Given the description of an element on the screen output the (x, y) to click on. 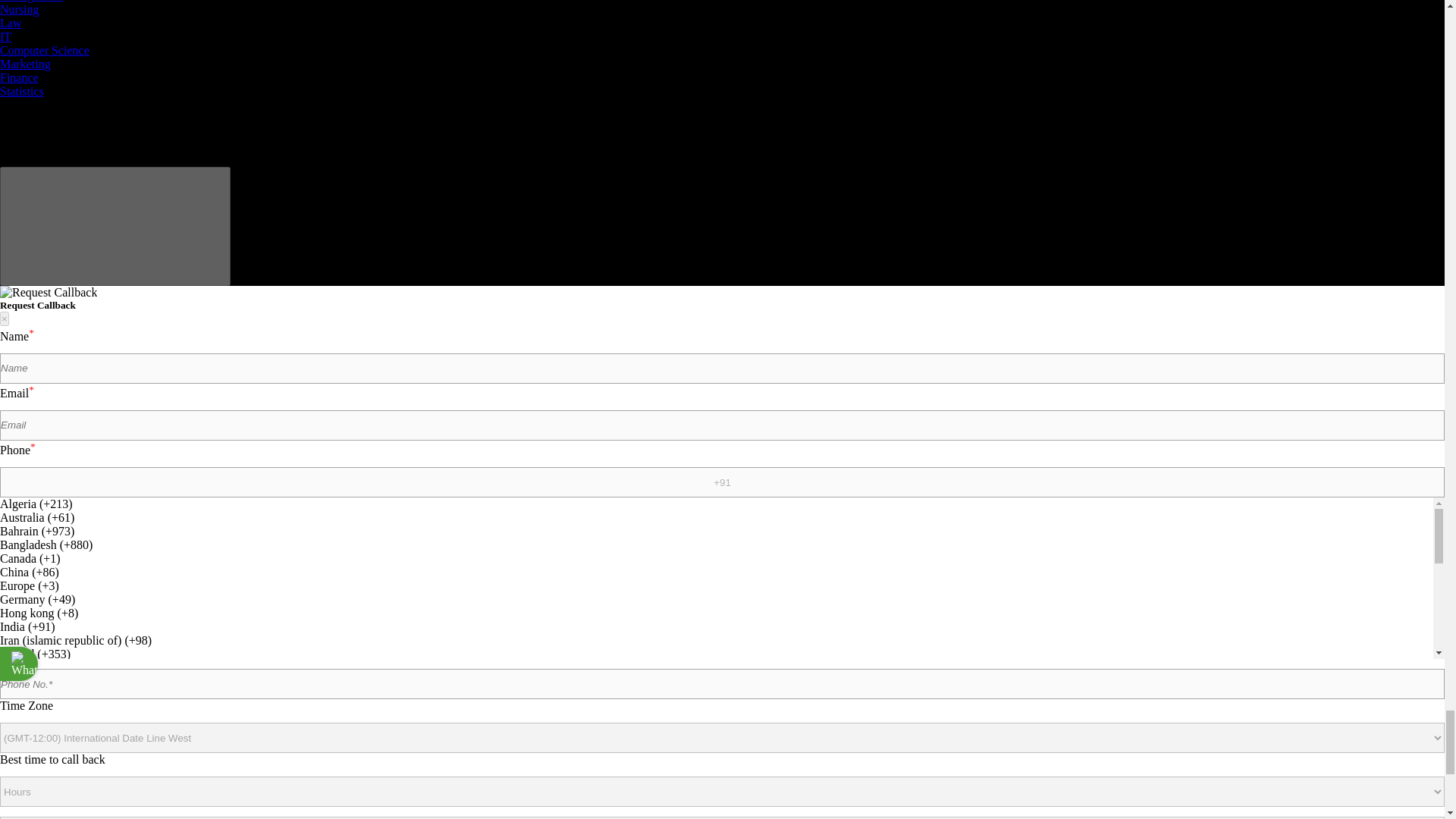
Go to top (115, 226)
